Given the description of an element on the screen output the (x, y) to click on. 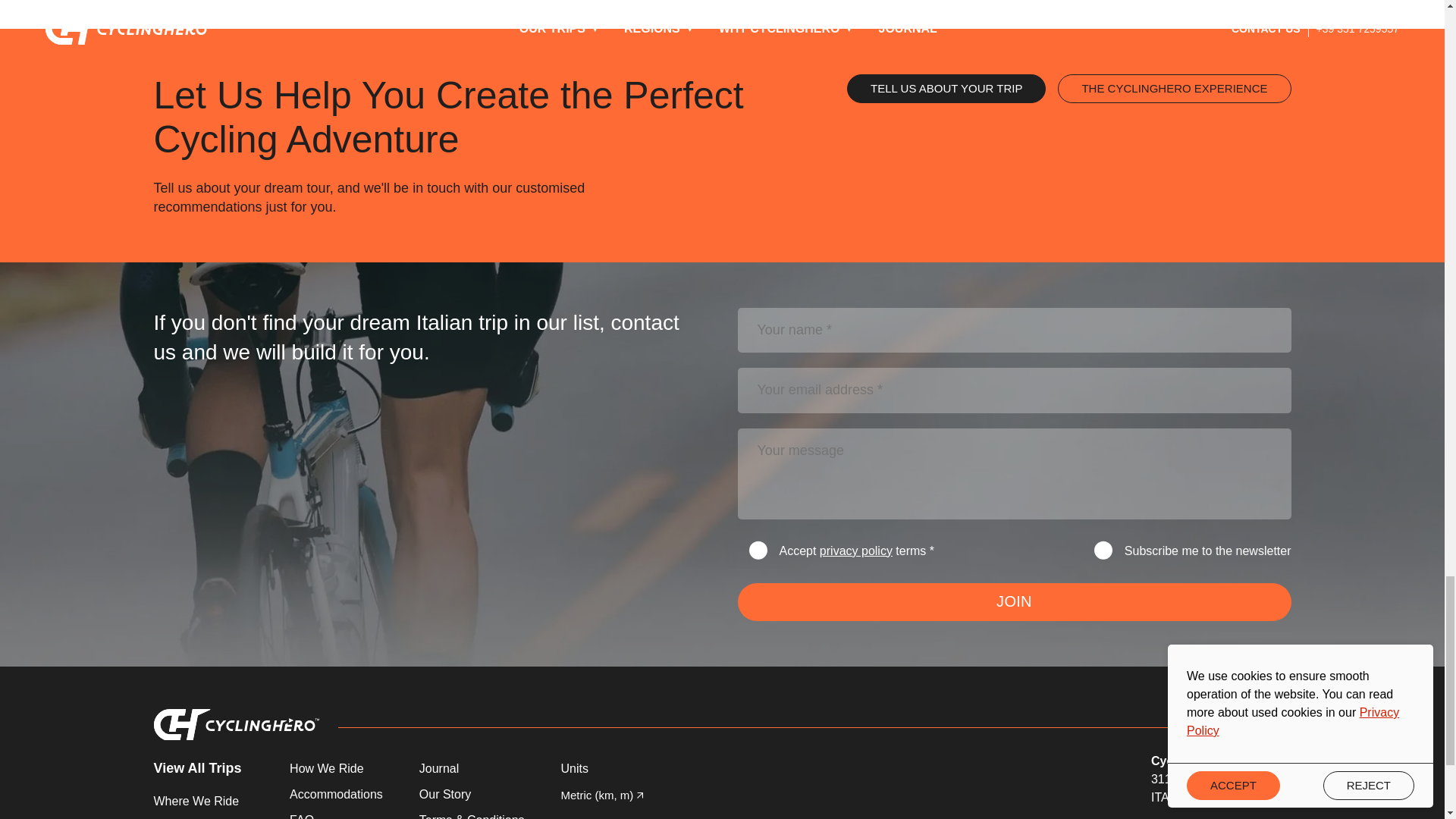
FAQ (335, 815)
false (1103, 549)
THE CYCLINGHERO EXPERIENCE (1174, 88)
Our Story (471, 794)
TELL US ABOUT YOUR TRIP (946, 88)
false (758, 549)
JOIN (1013, 601)
privacy policy (855, 550)
Where We Ride (202, 801)
Journal (471, 769)
How We Ride (335, 769)
View All Trips (202, 768)
Accommodations (335, 794)
